Given the description of an element on the screen output the (x, y) to click on. 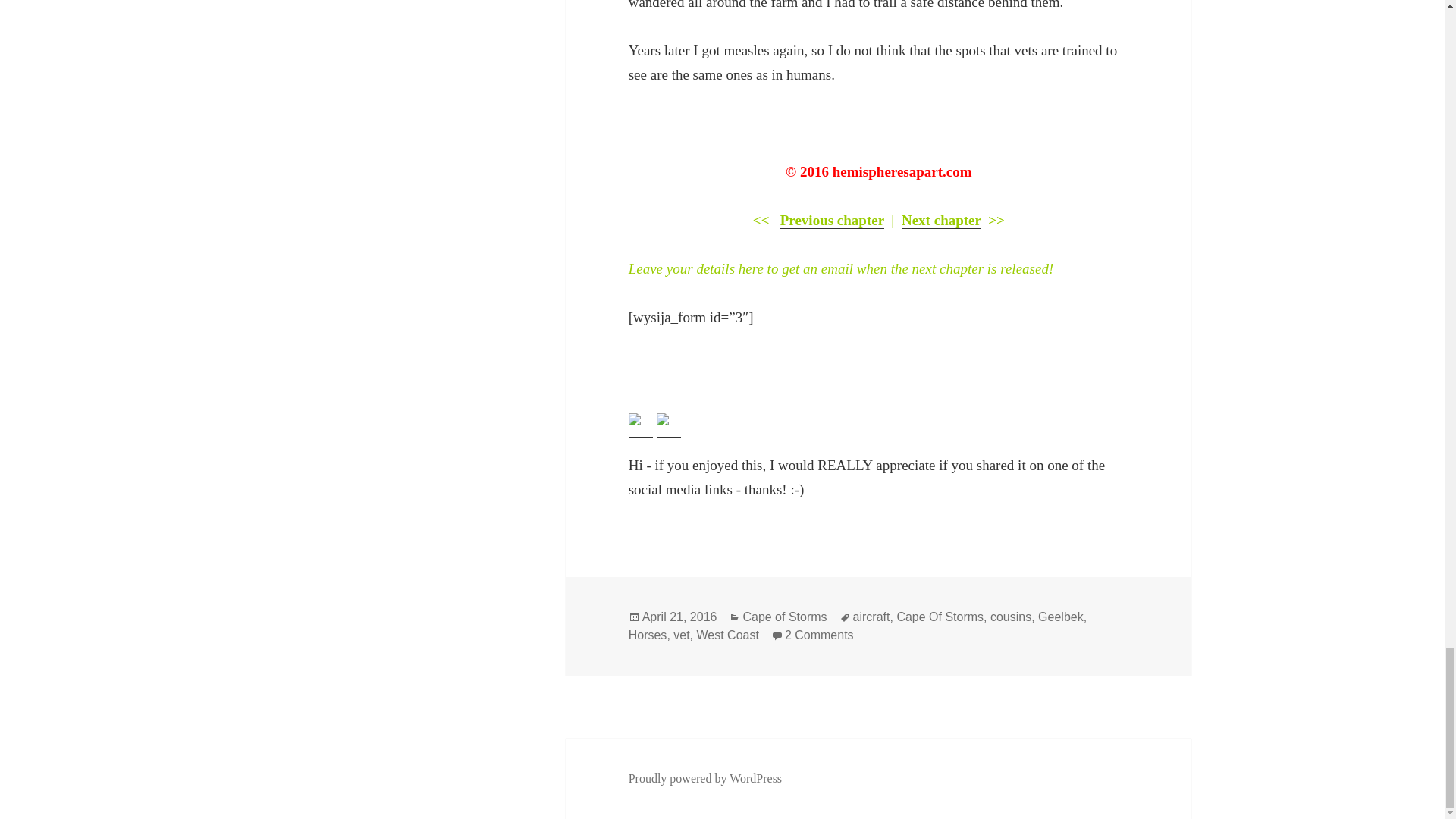
Contact the writer ... (668, 425)
Contact the writer ... (662, 419)
Follow the writer on Twitter (640, 425)
Follow the writer on Twitter (634, 419)
